Given the description of an element on the screen output the (x, y) to click on. 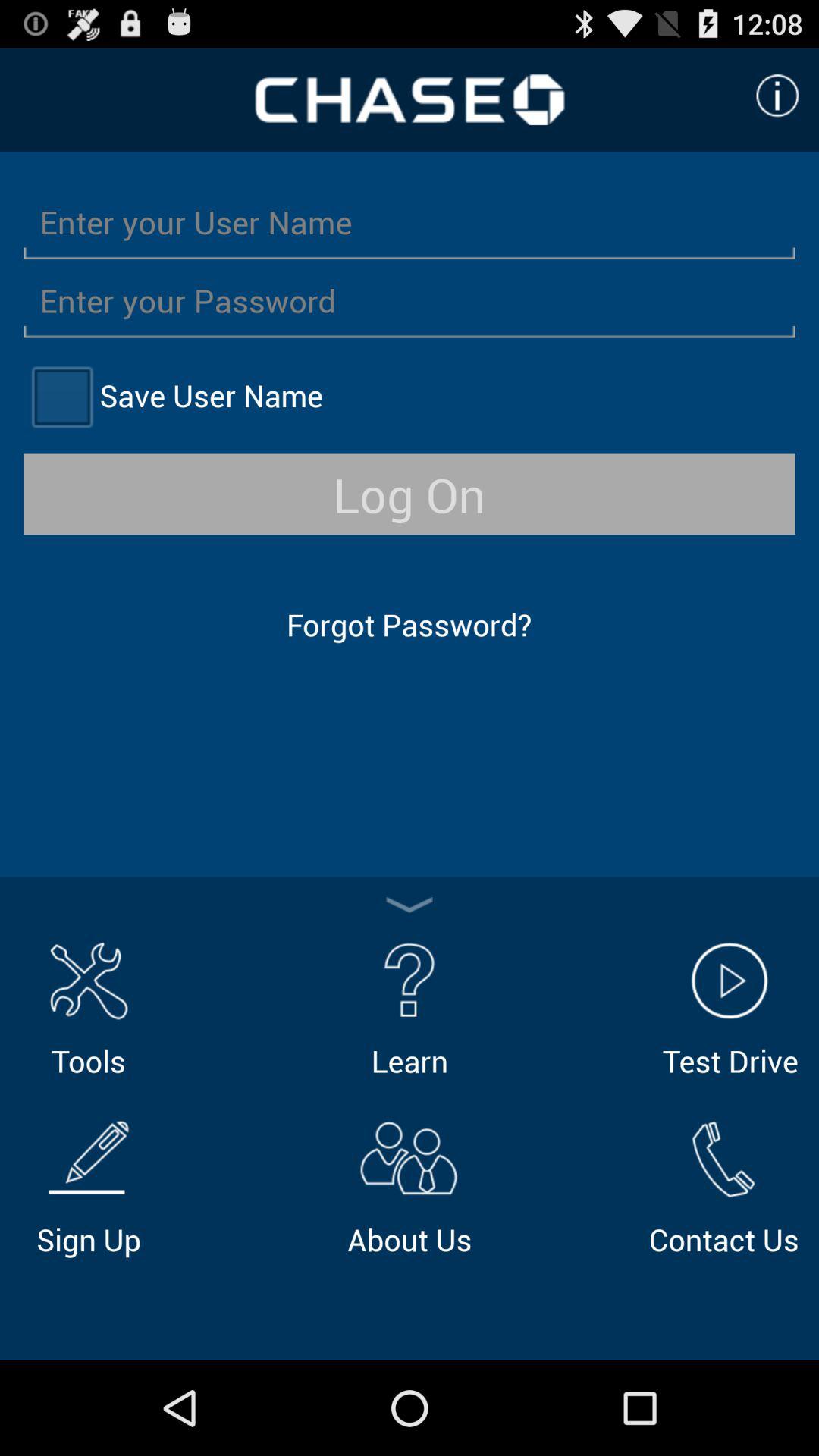
go to information button (777, 95)
